Given the description of an element on the screen output the (x, y) to click on. 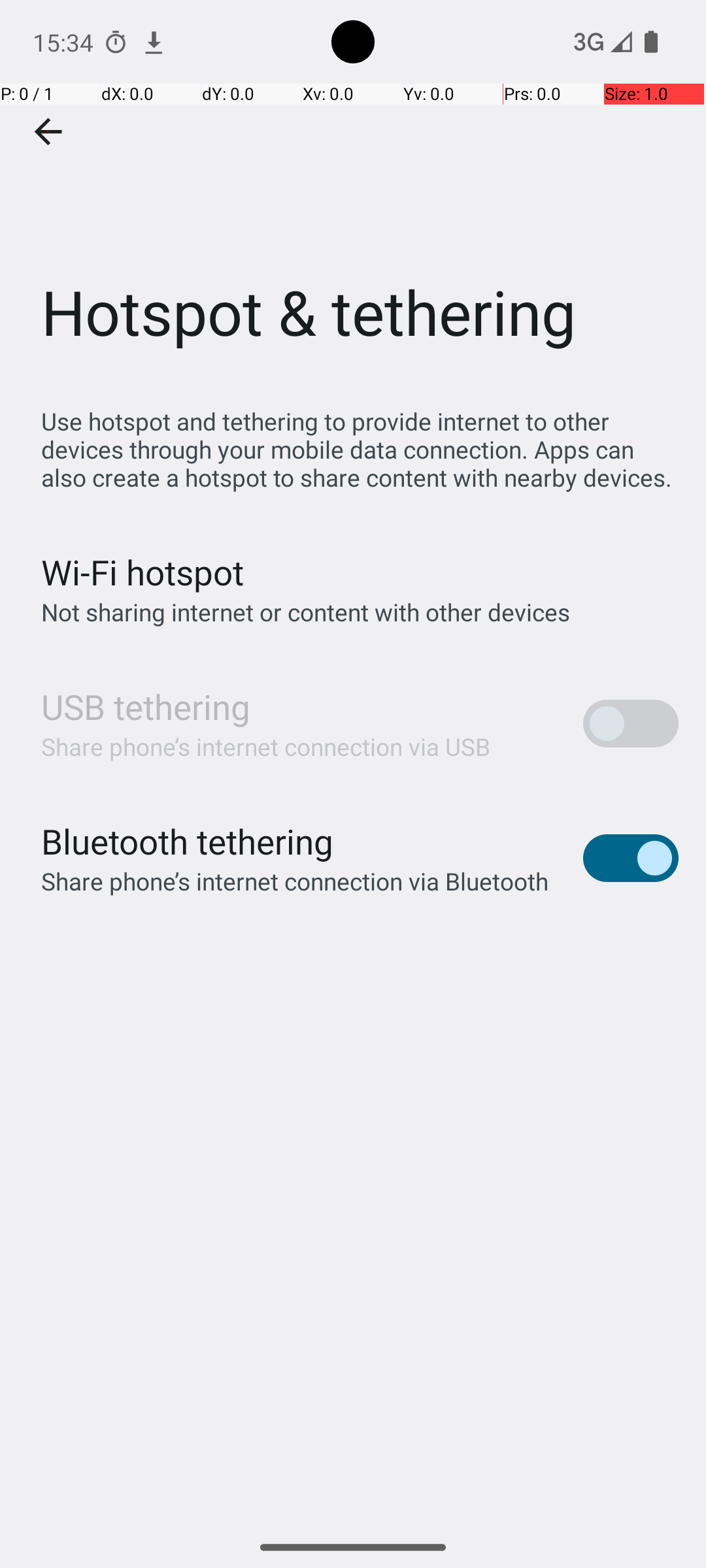
Use hotspot and tethering to provide internet to other devices through your mobile data connection. Apps can also create a hotspot to share content with nearby devices. Element type: android.widget.TextView (359, 448)
Wi‑Fi hotspot Element type: android.widget.TextView (142, 571)
Not sharing internet or content with other devices Element type: android.widget.TextView (305, 611)
USB tethering Element type: android.widget.TextView (145, 706)
Share phone’s internet connection via USB Element type: android.widget.TextView (265, 746)
Bluetooth tethering Element type: android.widget.TextView (187, 840)
Share phone’s internet connection via Bluetooth Element type: android.widget.TextView (294, 880)
